Given the description of an element on the screen output the (x, y) to click on. 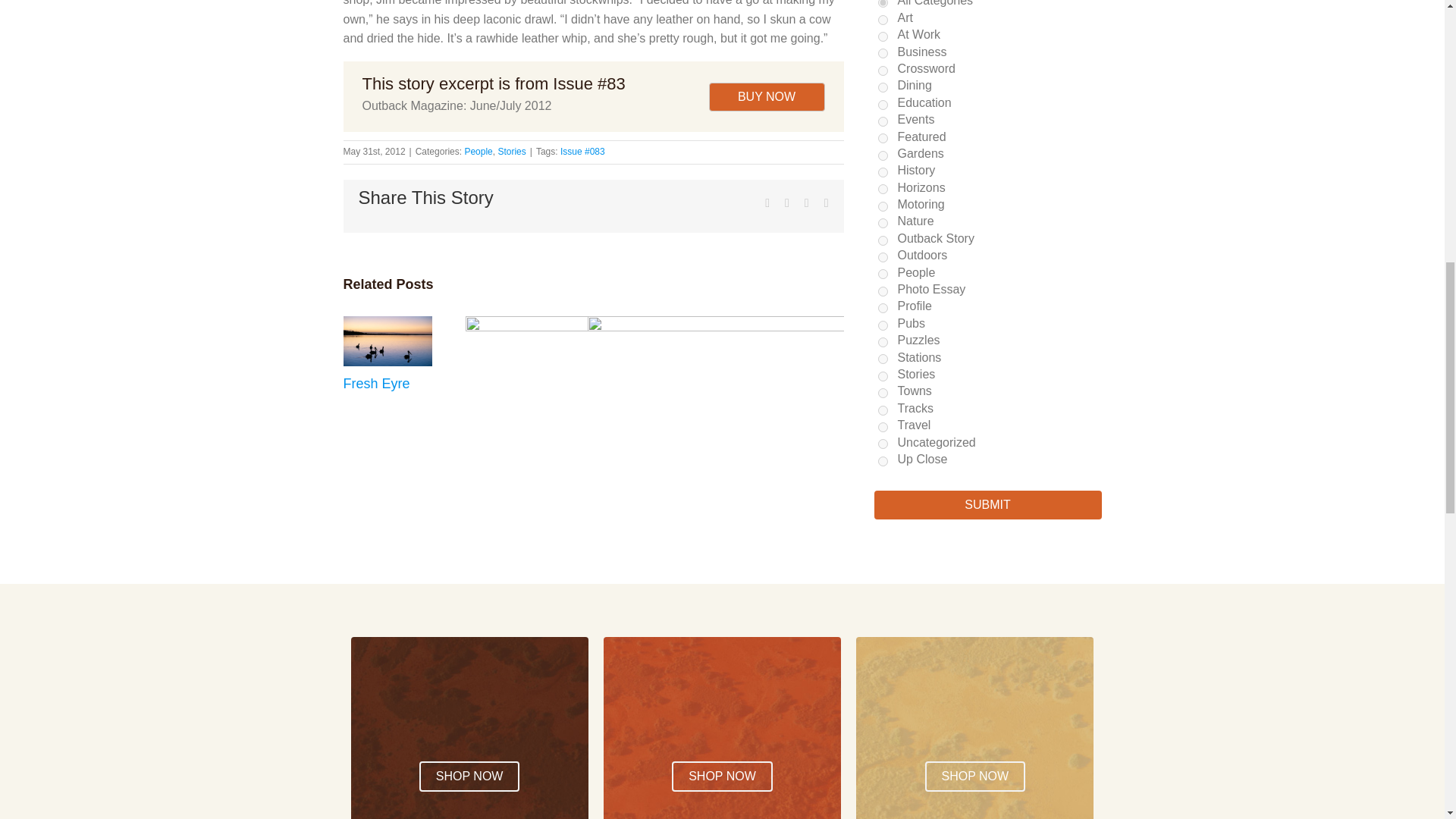
at-work (882, 36)
art (882, 20)
business (882, 53)
crossword (882, 71)
nature (882, 223)
education (882, 104)
heading-issues-cta (721, 710)
heading-subscription-cta (468, 710)
dining (882, 87)
Fresh Eyre (375, 383)
outdoors (882, 257)
featured (882, 138)
horizons (882, 189)
heading-books-and-more-cta (974, 710)
gardens (882, 155)
